Given the description of an element on the screen output the (x, y) to click on. 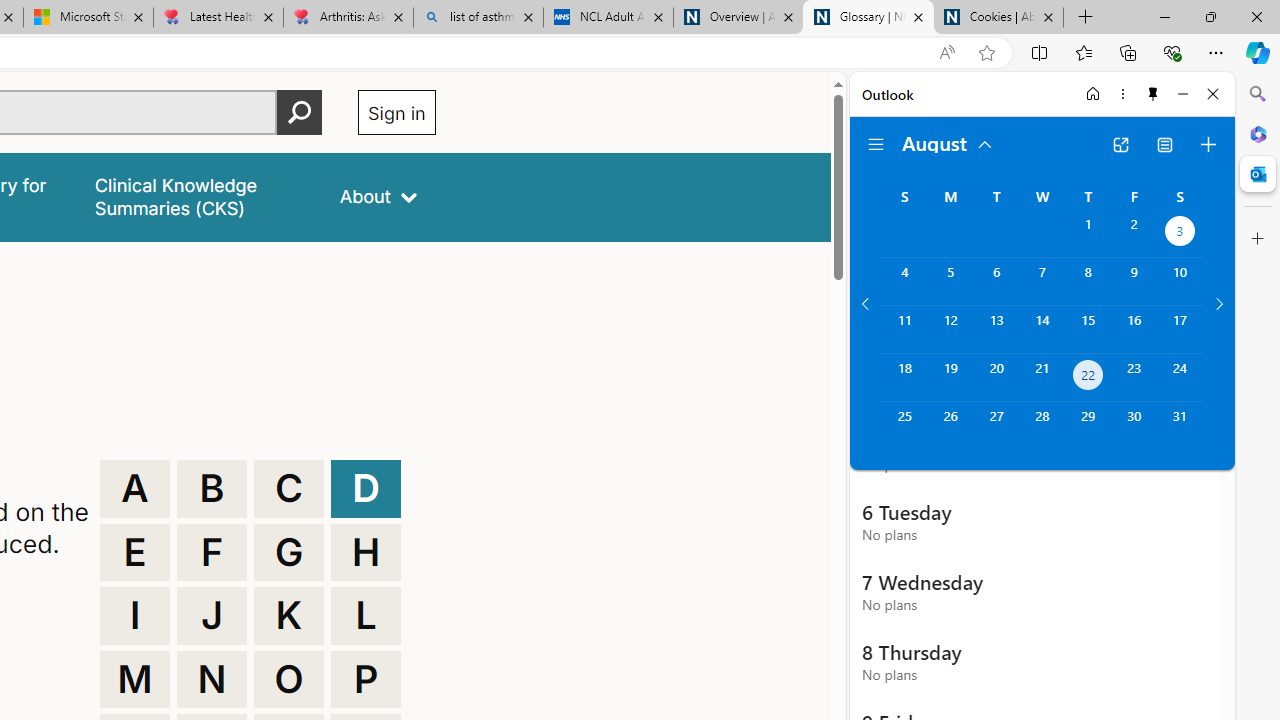
Tuesday, August 27, 2024.  (996, 425)
Monday, August 12, 2024.  (950, 329)
Saturday, August 10, 2024.  (1180, 281)
Thursday, August 1, 2024.  (1088, 233)
Folder navigation (876, 144)
Arthritis: Ask Health Professionals (348, 17)
B (212, 488)
Restore (1210, 16)
Friday, August 16, 2024.  (1134, 329)
C (289, 488)
Create event (1208, 144)
Tuesday, August 6, 2024.  (996, 281)
H (365, 551)
O (289, 679)
